Given the description of an element on the screen output the (x, y) to click on. 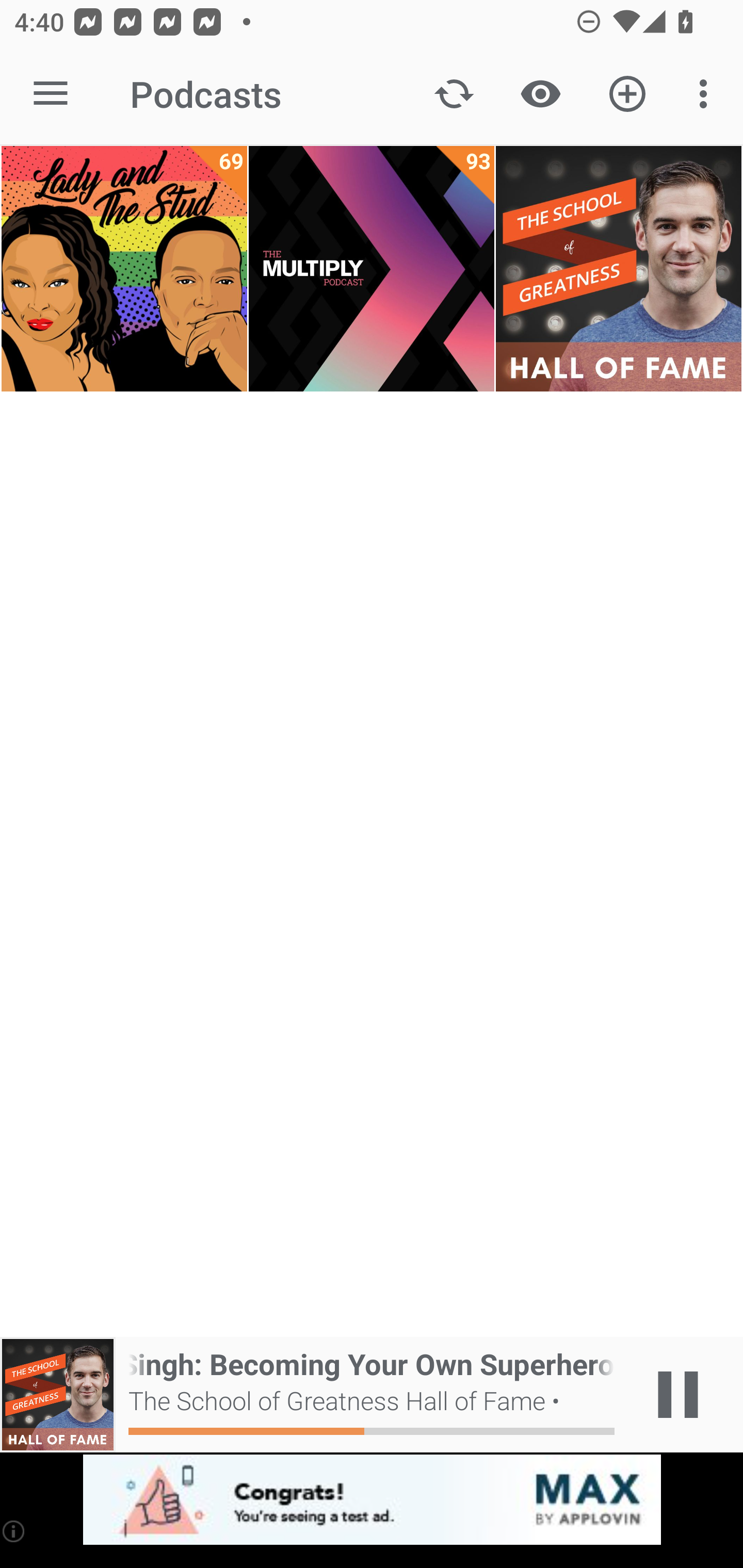
Open navigation sidebar (50, 93)
Update (453, 93)
Show / Hide played content (540, 93)
Add new Podcast (626, 93)
More options (706, 93)
Lady and The Stud 69 (124, 268)
The Multiply Podcast 93 (371, 268)
The School of Greatness Hall of Fame (618, 268)
Play / Pause (677, 1394)
app-monetization (371, 1500)
(i) (14, 1531)
